Given the description of an element on the screen output the (x, y) to click on. 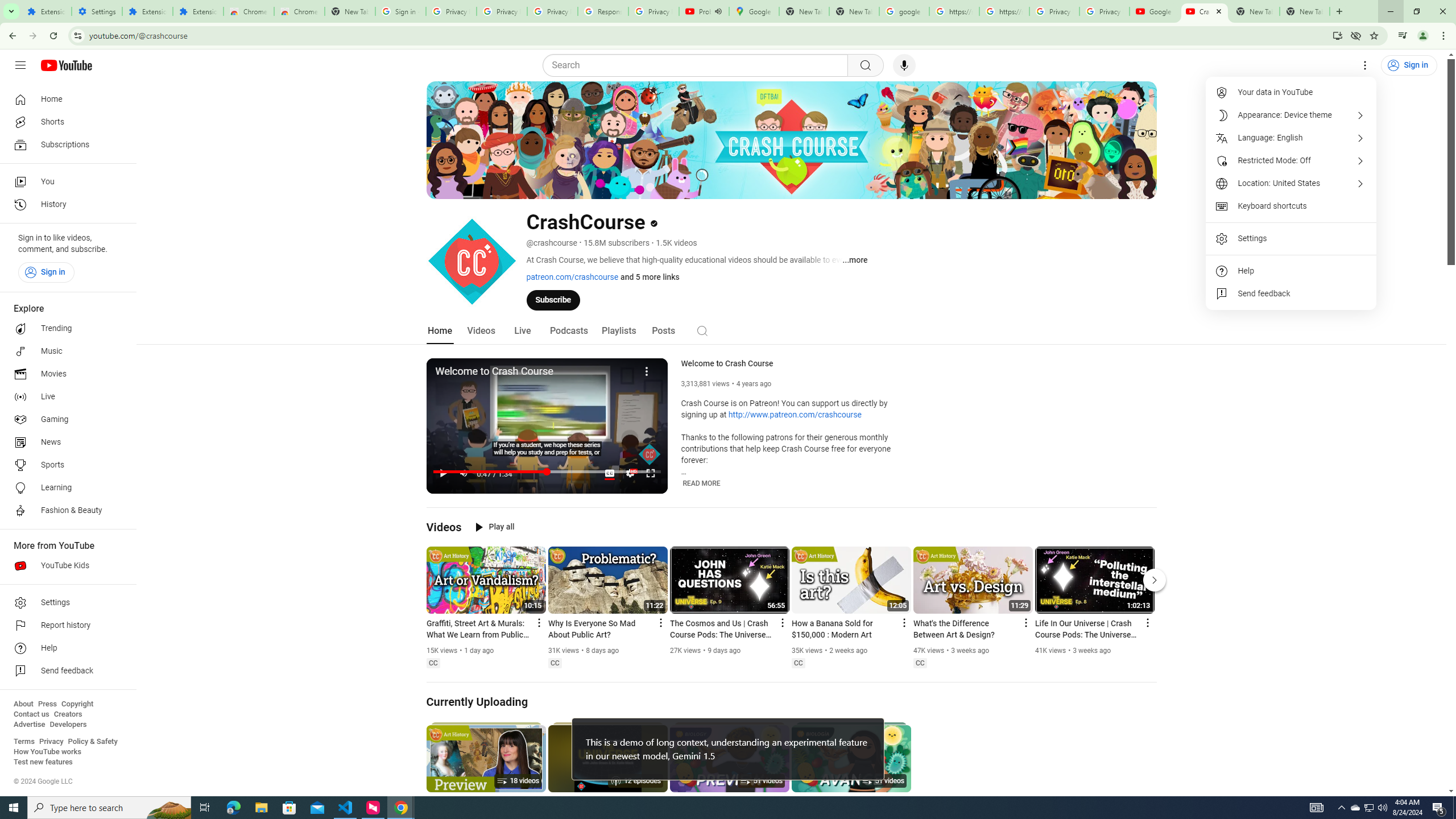
YouTube Home (66, 65)
Videos (481, 330)
Install YouTube (1336, 35)
Pause (k) (443, 472)
READ MORE (701, 483)
Sign in - Google Accounts (399, 11)
Home (440, 330)
Fashion & Beauty (64, 510)
Home (64, 99)
